Given the description of an element on the screen output the (x, y) to click on. 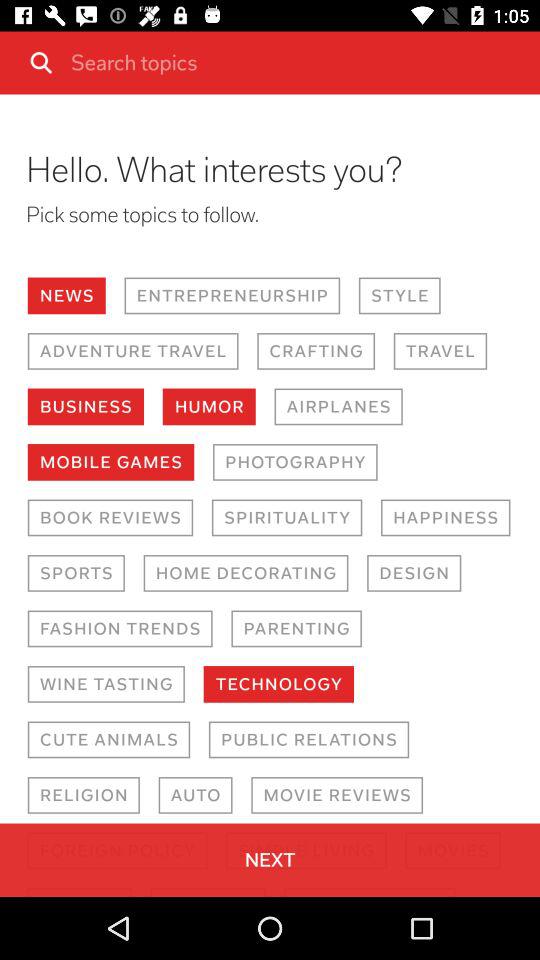
press icon next to airplanes (208, 406)
